Given the description of an element on the screen output the (x, y) to click on. 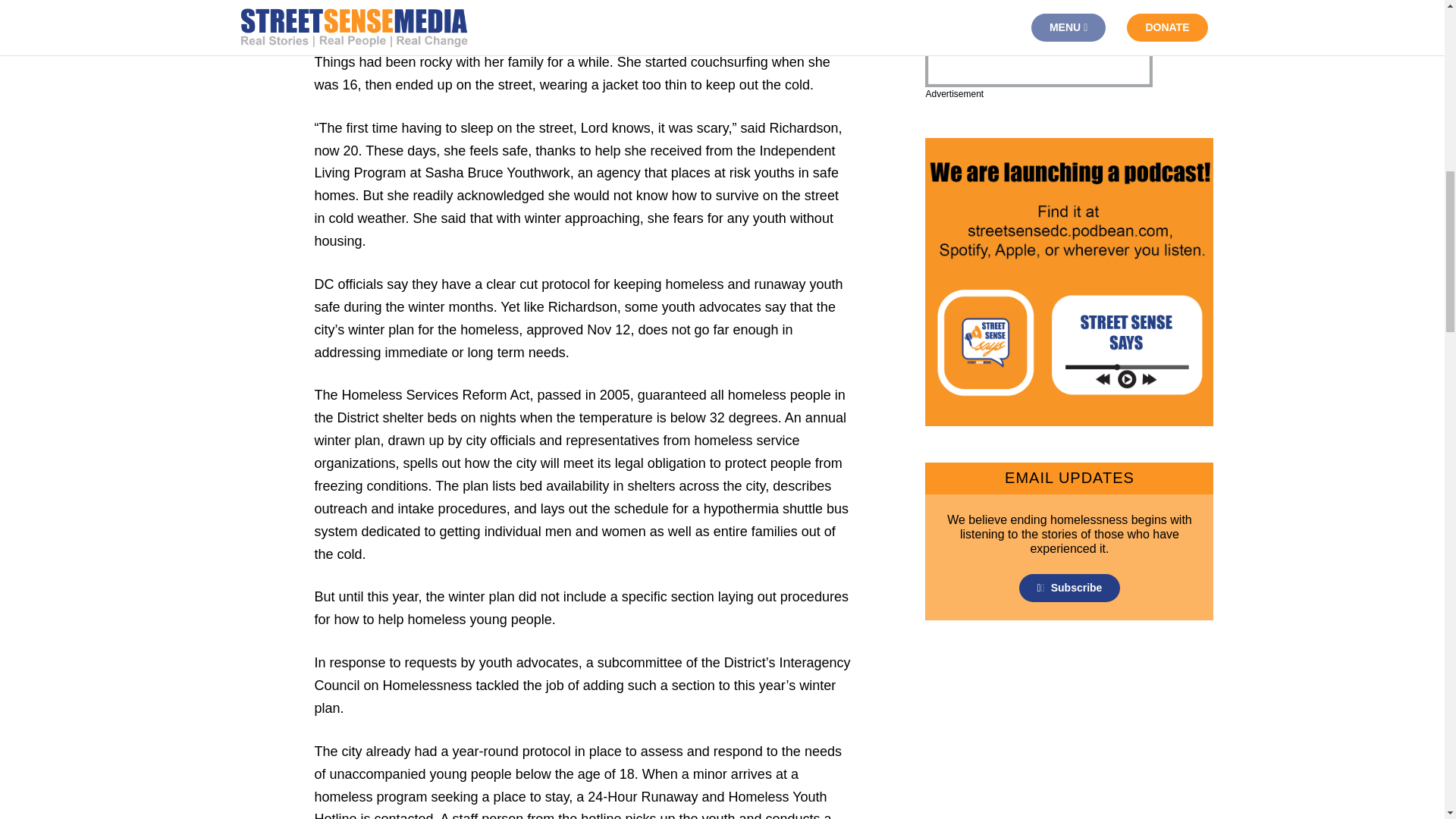
Subscribe (1070, 587)
